Given the description of an element on the screen output the (x, y) to click on. 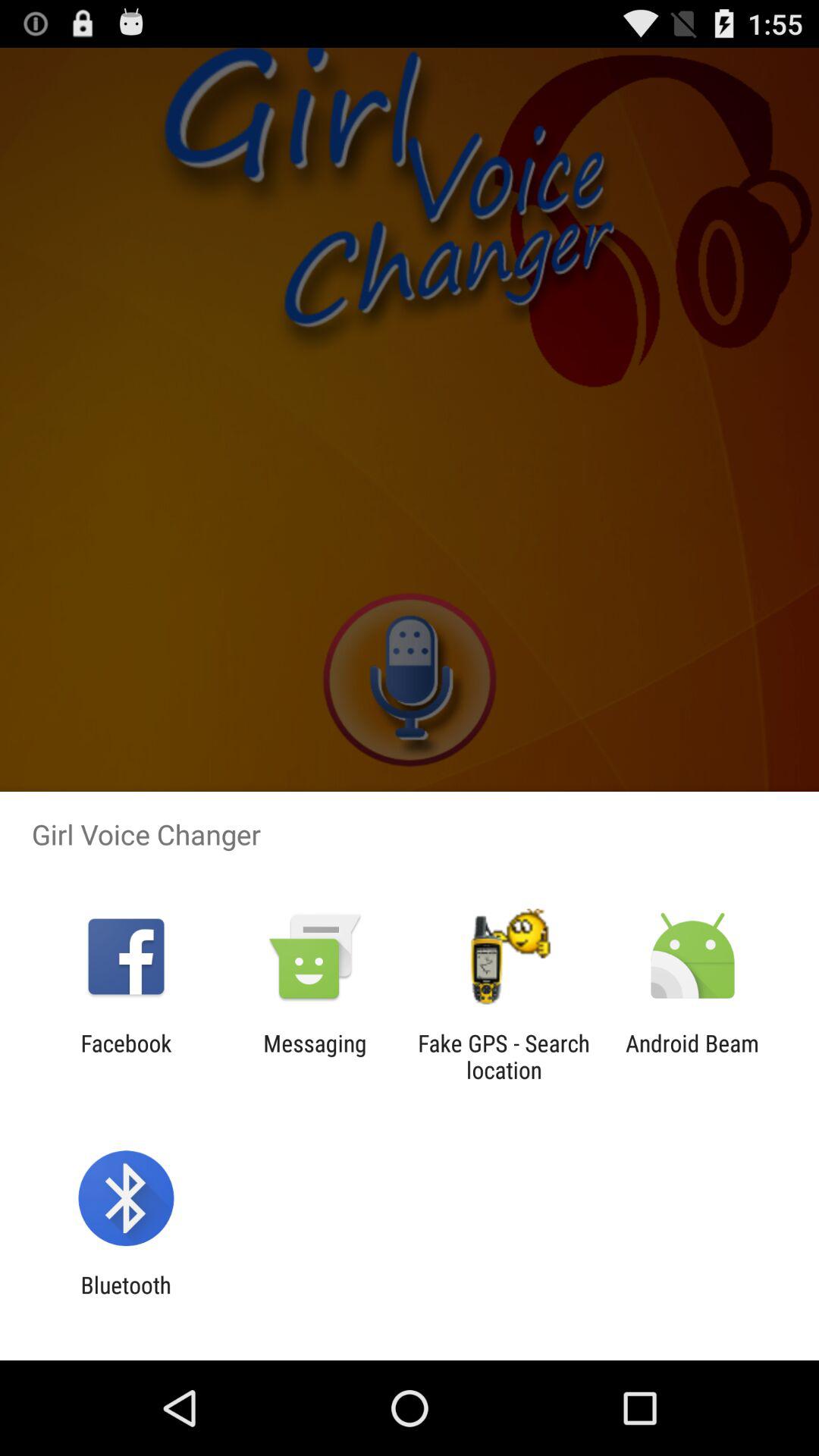
open the icon at the bottom right corner (692, 1056)
